Given the description of an element on the screen output the (x, y) to click on. 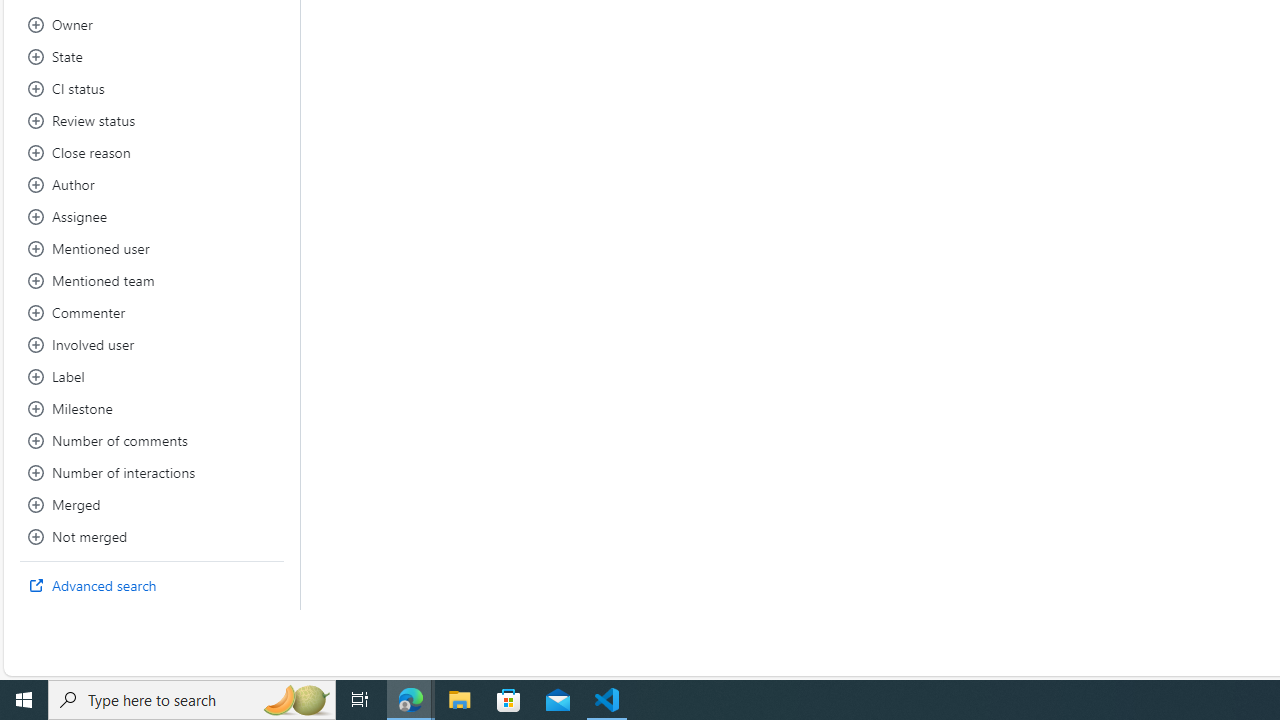
Advanced search (152, 585)
